Given the description of an element on the screen output the (x, y) to click on. 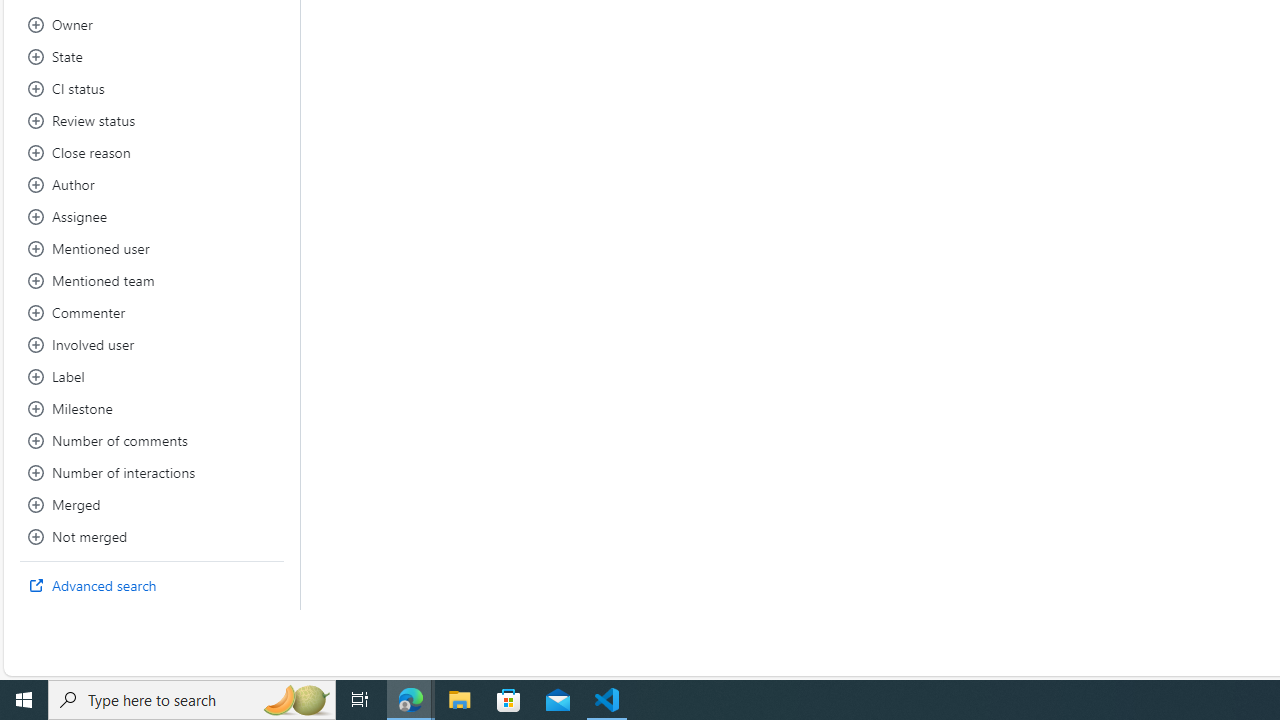
Advanced search (152, 585)
